Given the description of an element on the screen output the (x, y) to click on. 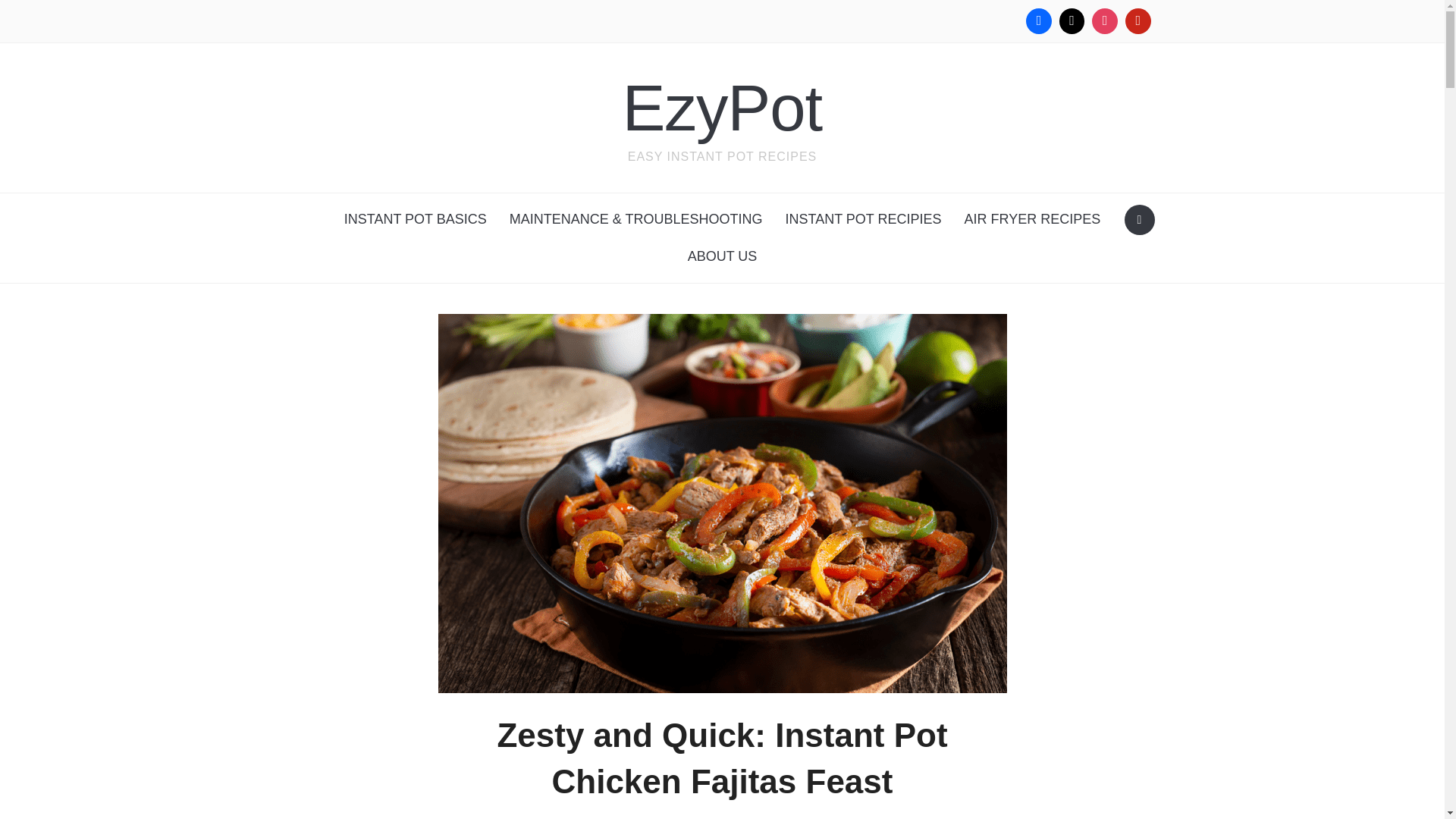
Search (1139, 219)
INSTANT POT BASICS (415, 219)
INSTANT POT RECIPIES (862, 219)
Pinterest (1137, 20)
Easy Instant Pot Recipes (722, 108)
X (1072, 20)
AIR FRYER RECIPES (1032, 219)
Facebook (1038, 20)
ABOUT US (722, 256)
EzyPot (722, 108)
Instagram (1104, 20)
